Given the description of an element on the screen output the (x, y) to click on. 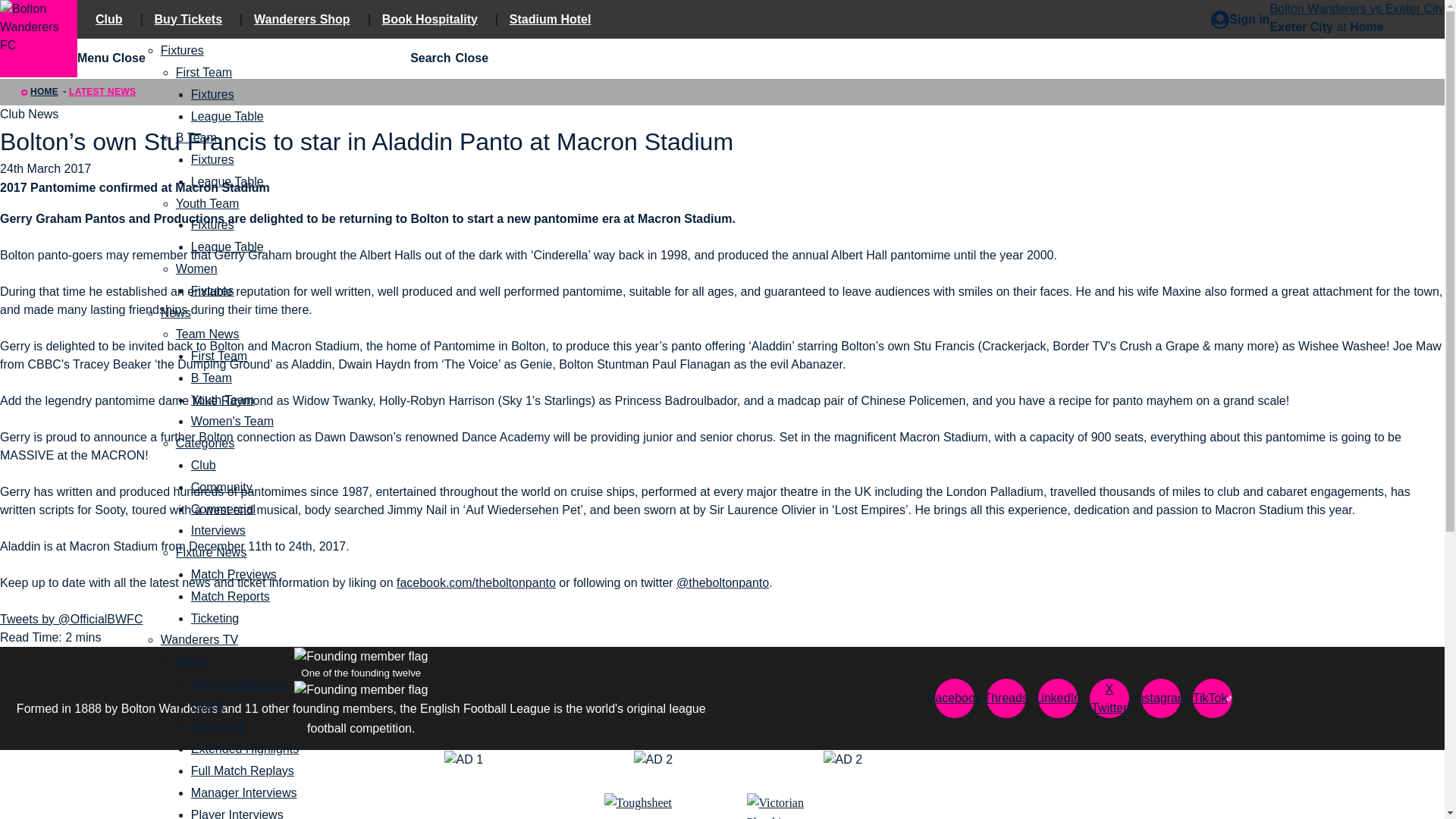
Commercial (223, 508)
Youth Team (208, 203)
Menu Close (111, 57)
B Team (196, 137)
Categories (205, 442)
Fixtures (212, 93)
League Table (226, 181)
First Team (203, 72)
Club (202, 464)
Match Previews (233, 574)
